Given the description of an element on the screen output the (x, y) to click on. 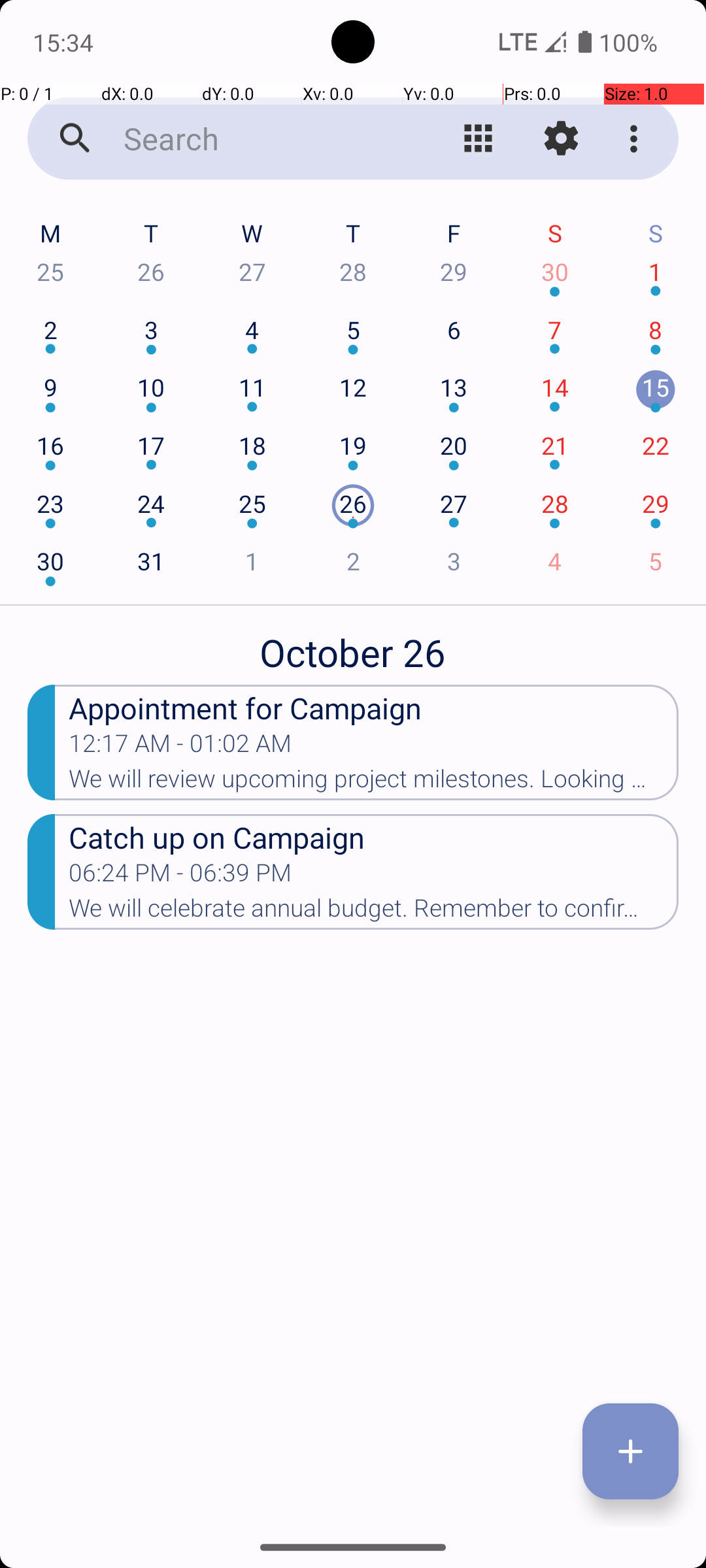
October 26 Element type: android.widget.TextView (352, 644)
12:17 AM - 01:02 AM Element type: android.widget.TextView (179, 747)
We will review upcoming project milestones. Looking forward to productive discussions. Element type: android.widget.TextView (373, 782)
06:24 PM - 06:39 PM Element type: android.widget.TextView (250, 876)
We will celebrate annual budget. Remember to confirm attendance. Element type: android.widget.TextView (373, 911)
